Given the description of an element on the screen output the (x, y) to click on. 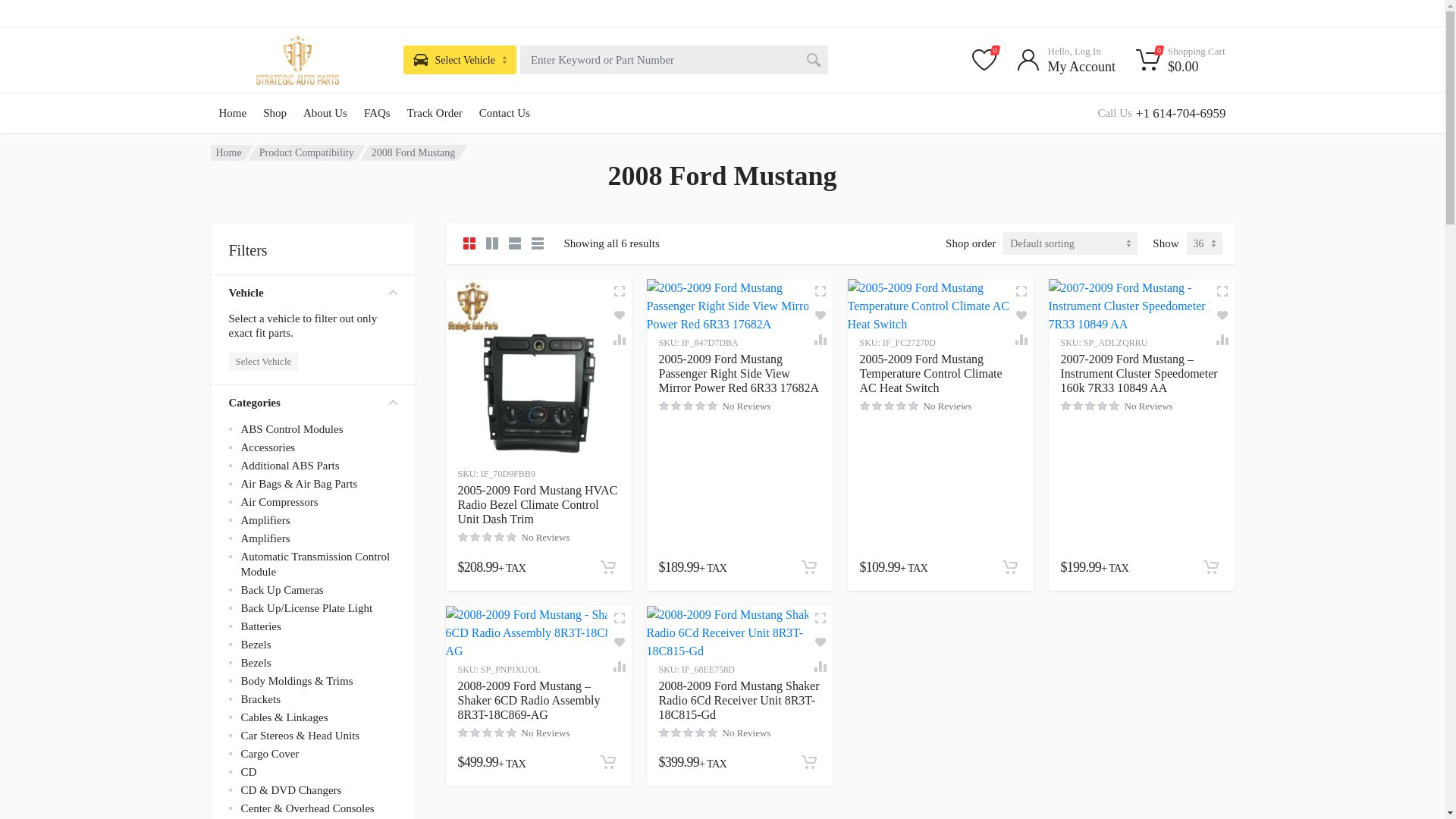
Batteries (261, 625)
Amplifiers (265, 520)
Amplifiers (265, 538)
Back Up Cameras (282, 589)
About Us (325, 112)
Track Order (434, 112)
Vehicle (312, 292)
FAQs (376, 112)
Categories (312, 402)
Home (228, 152)
0 (983, 59)
Air Compressors (279, 501)
Accessories (268, 447)
ABS Control Modules (292, 428)
Home (233, 112)
